Given the description of an element on the screen output the (x, y) to click on. 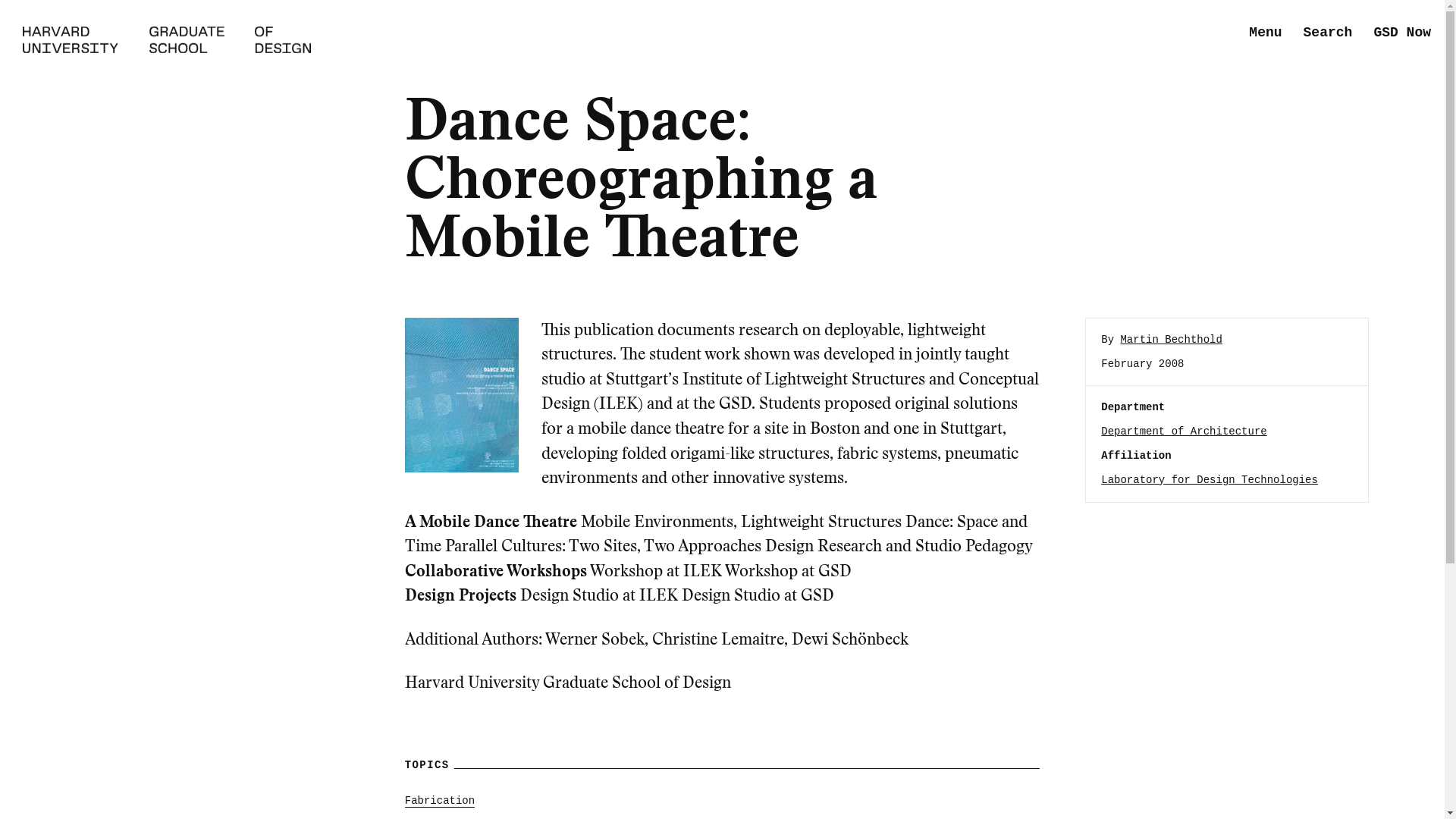
GSD Now (1402, 32)
Menu (1265, 32)
Search (1327, 32)
